Given the description of an element on the screen output the (x, y) to click on. 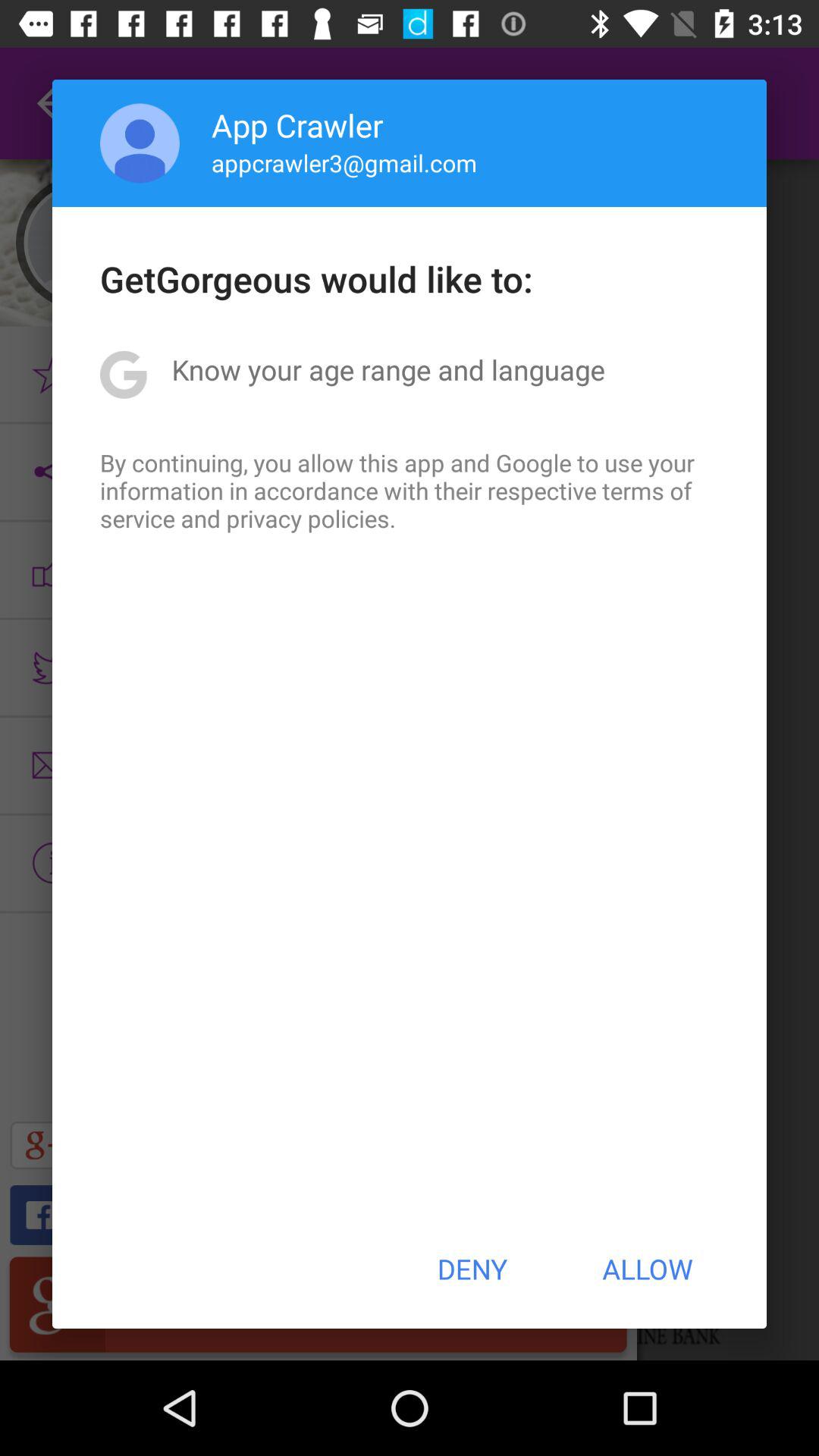
scroll until the app crawler app (297, 124)
